Given the description of an element on the screen output the (x, y) to click on. 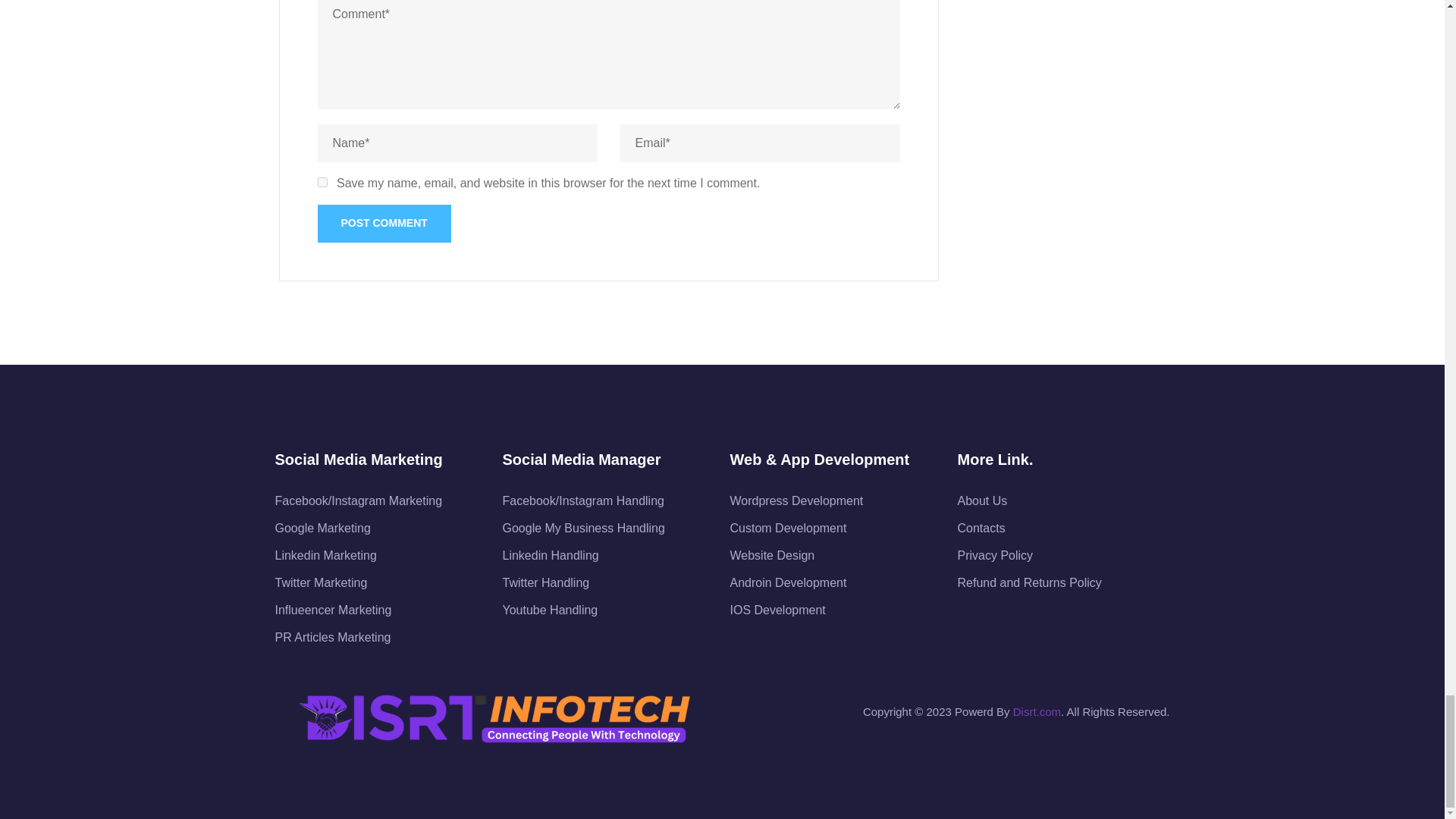
Post Comment (383, 223)
yes (321, 182)
